Given the description of an element on the screen output the (x, y) to click on. 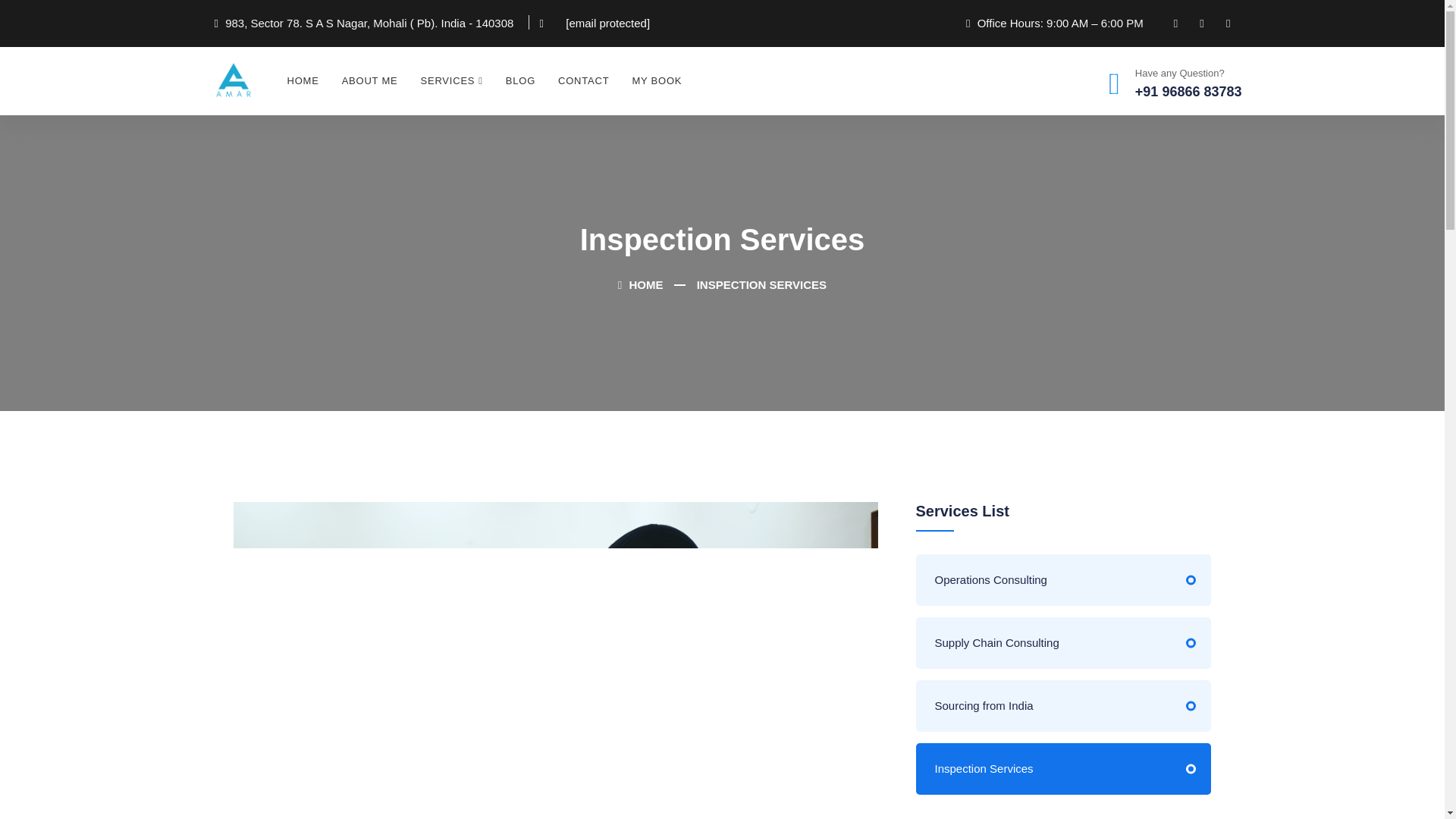
Inspection Services (1063, 768)
About Me (369, 80)
HOME (640, 284)
SERVICES (452, 80)
ABOUT ME (369, 80)
Services (452, 80)
CONTACT (583, 80)
Operations Consulting (1063, 580)
Sourcing from India (1063, 706)
MY BOOK (656, 80)
